Given the description of an element on the screen output the (x, y) to click on. 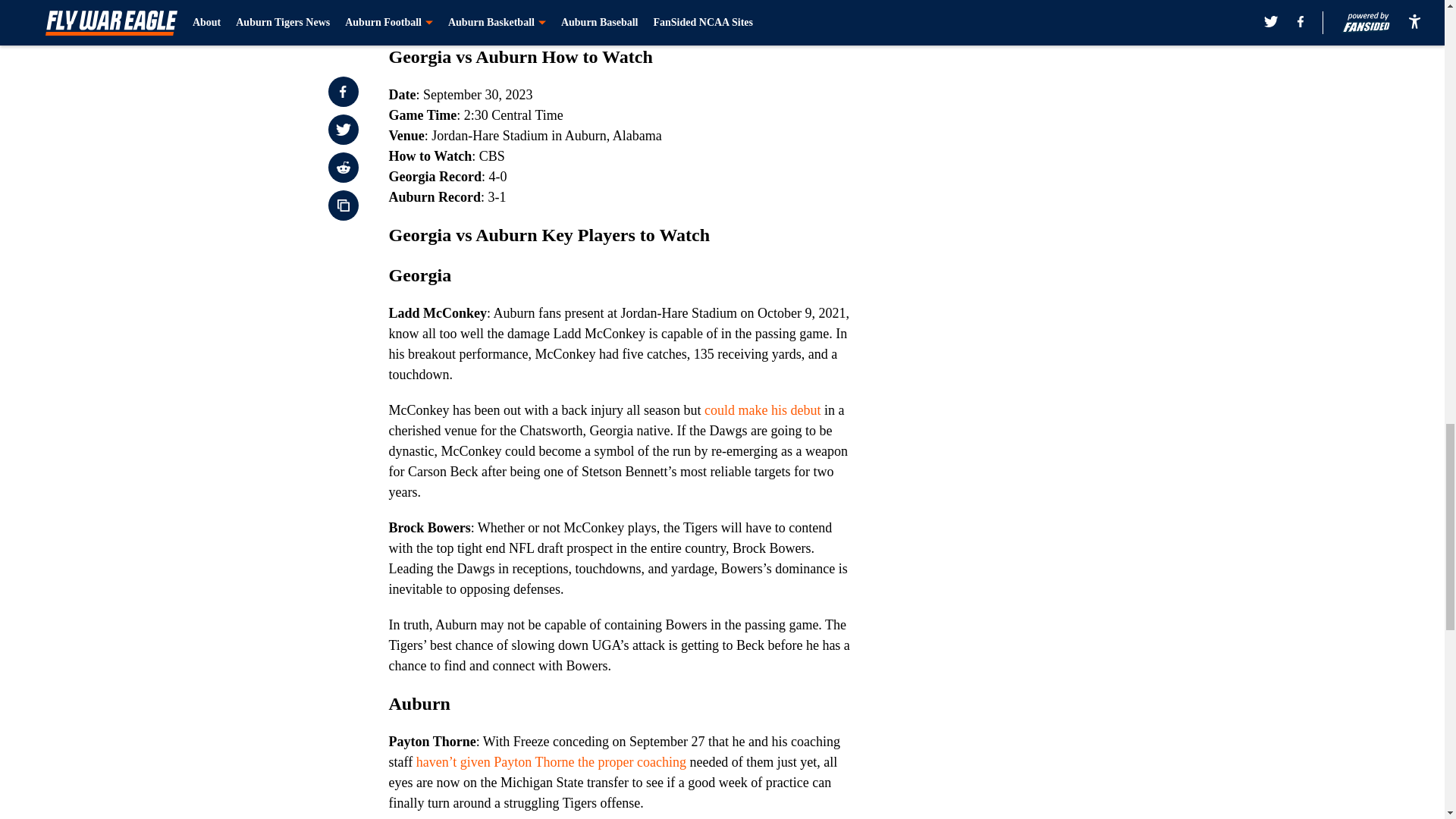
could make his debut (764, 409)
